Given the description of an element on the screen output the (x, y) to click on. 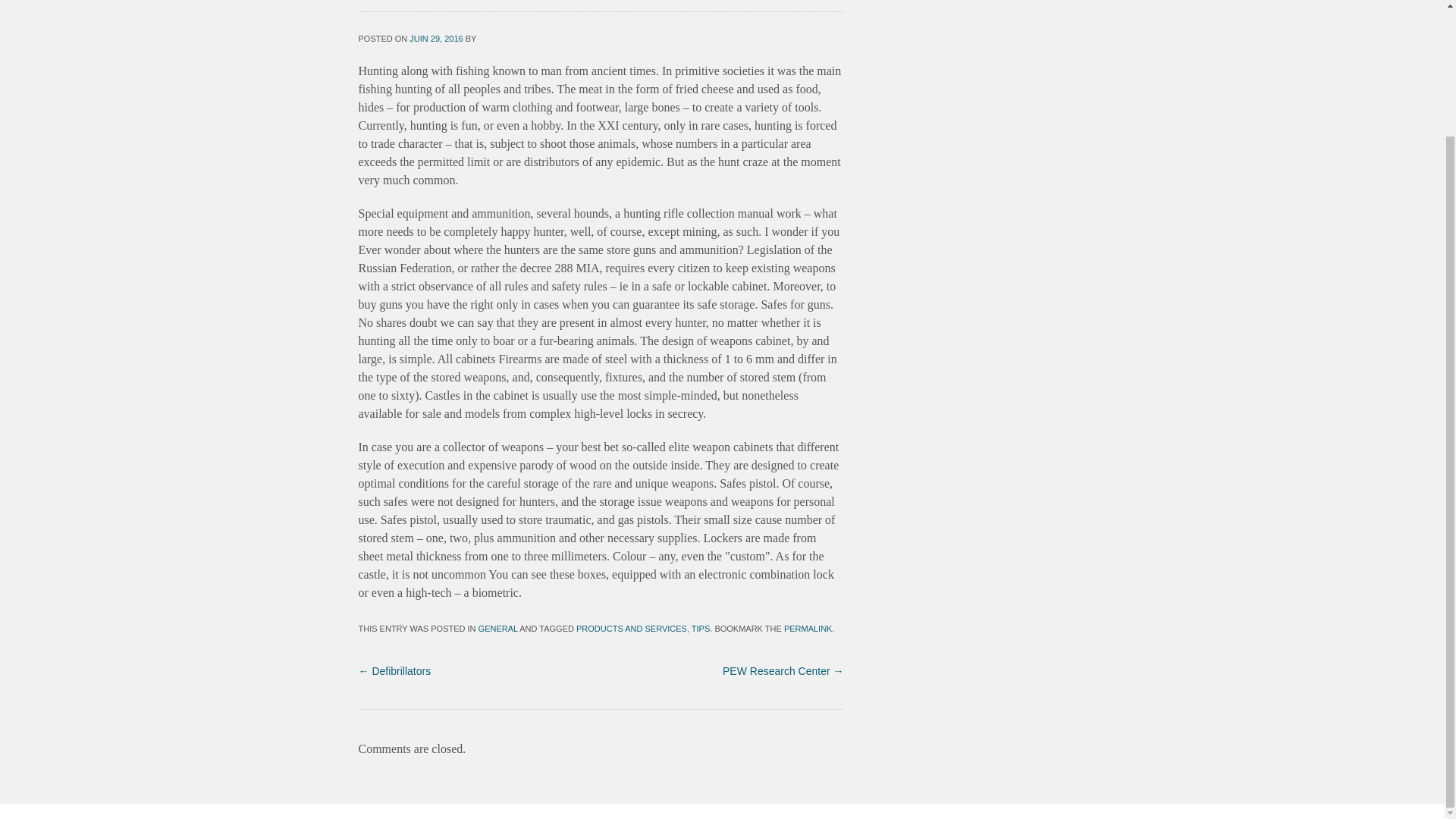
PERMALINK (808, 628)
TIPS (700, 628)
PRODUCTS AND SERVICES (631, 628)
Permalink to Firearms (808, 628)
GENERAL (498, 628)
JUIN 29, 2016 (436, 38)
